Given the description of an element on the screen output the (x, y) to click on. 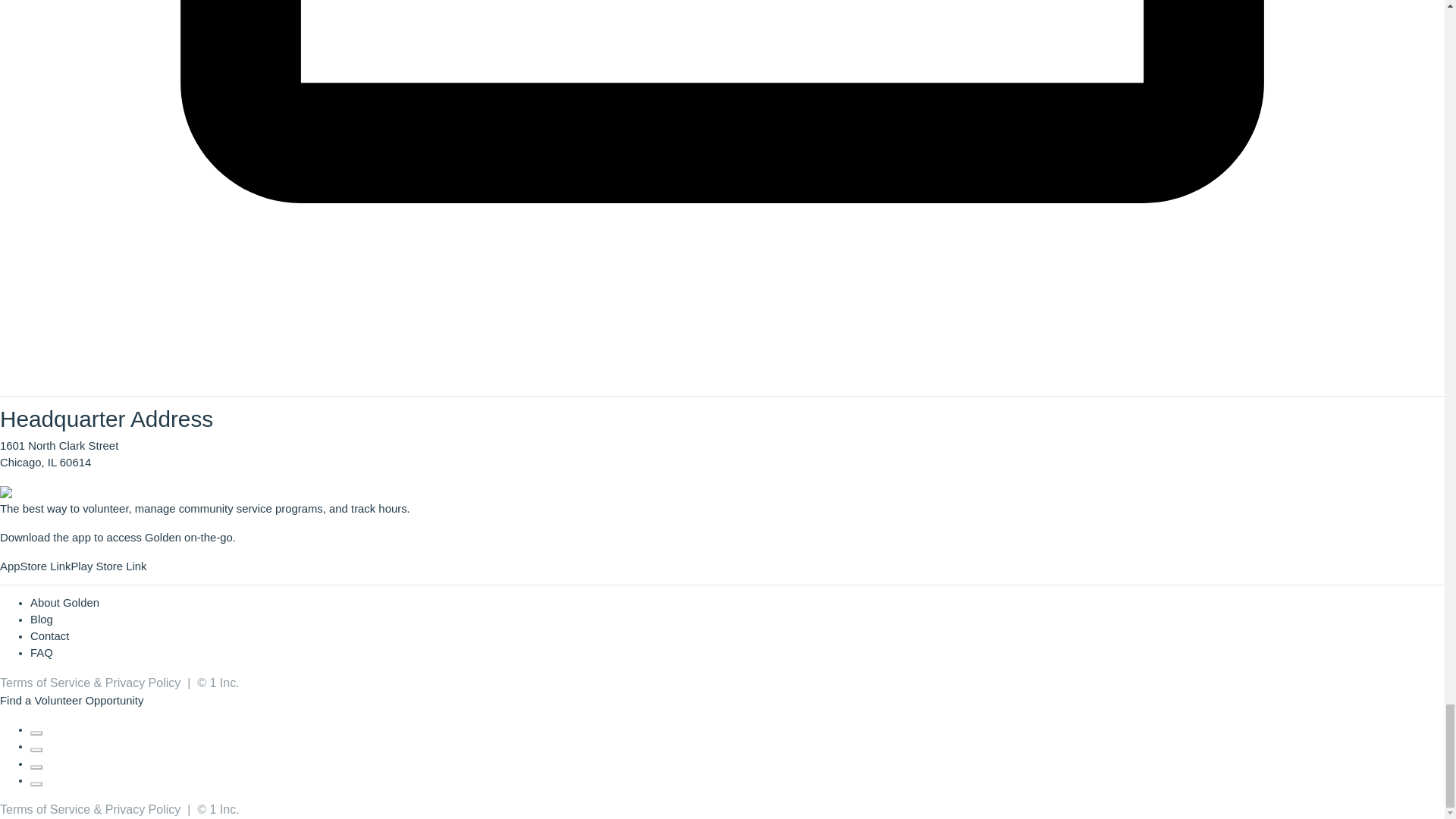
Visit Us On Twitter (36, 746)
Privacy Policy (142, 809)
Volunteer Opportunity (87, 700)
Contact (49, 635)
Visit Us On Facebook (36, 729)
Blog (41, 619)
Play Store Link (108, 566)
About Golden (64, 603)
Privacy Policy (142, 682)
Visit Us On Instagram (36, 763)
Terms of Service (45, 809)
Contact (49, 635)
Visit Us On YouTube (36, 779)
Blog (41, 619)
FAQ (41, 653)
